Given the description of an element on the screen output the (x, y) to click on. 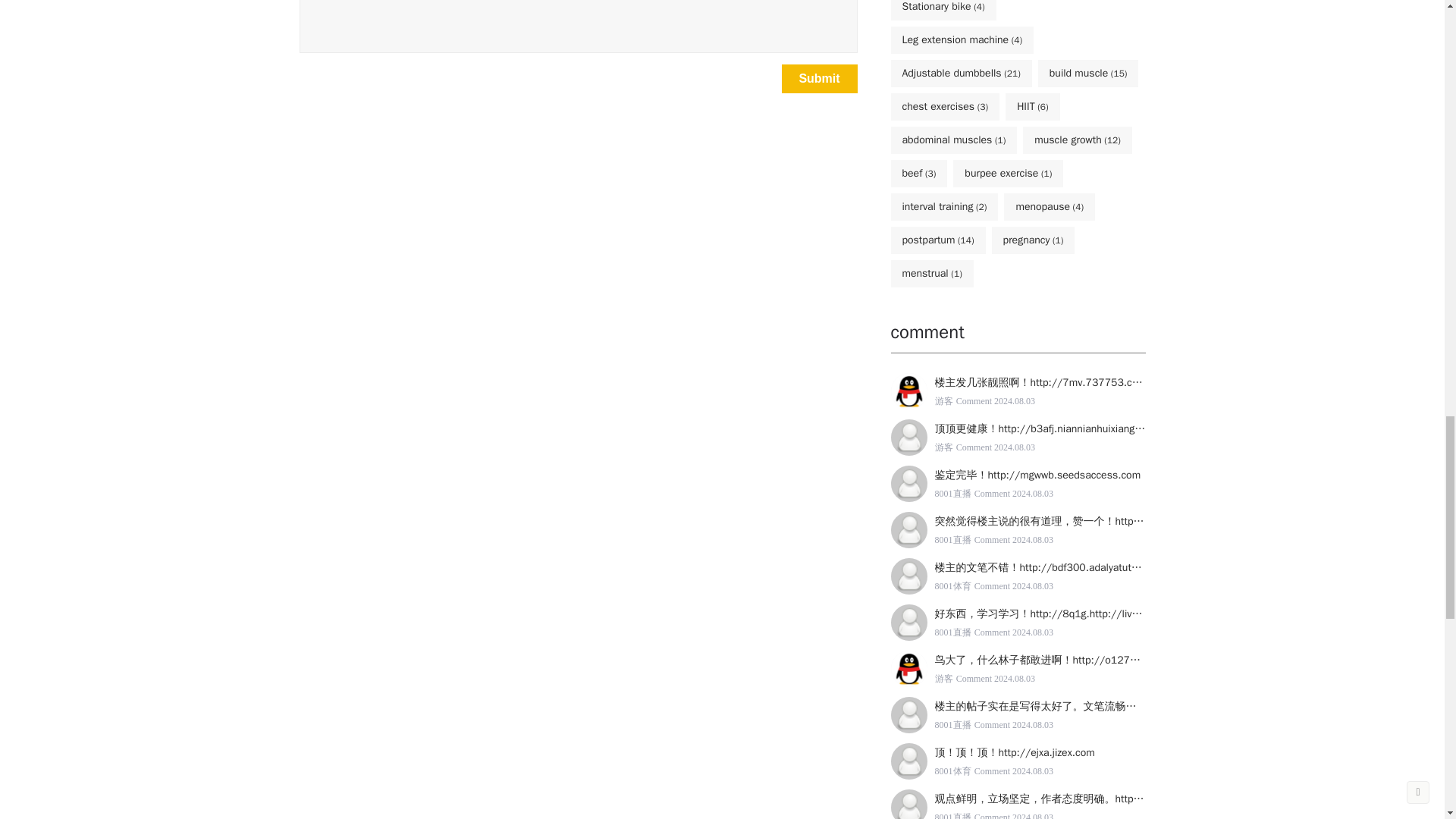
Submit (818, 77)
Submit (818, 77)
